Given the description of an element on the screen output the (x, y) to click on. 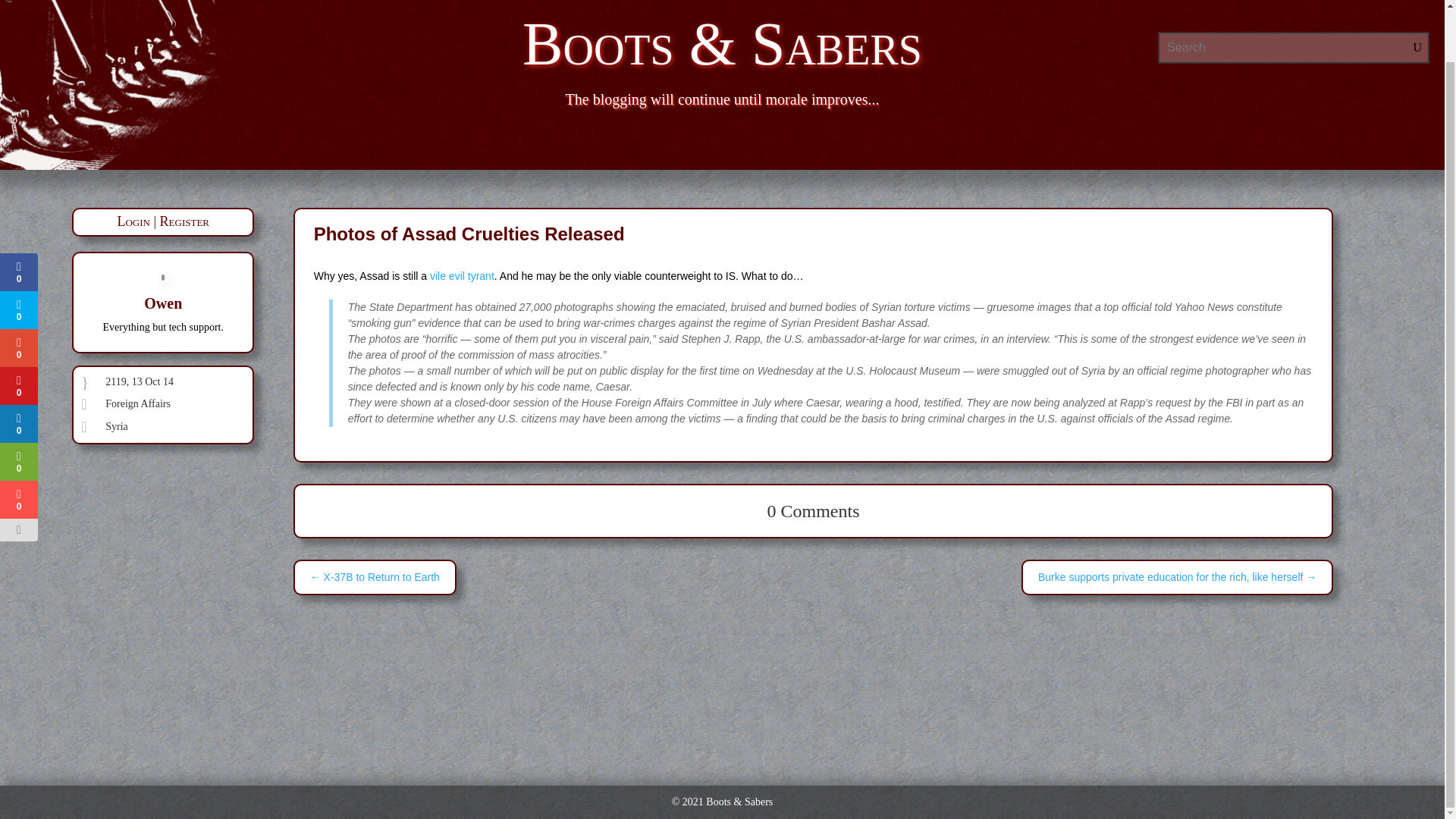
vile evil tyrant (462, 275)
0 (17, 405)
Register (184, 221)
Foreign Affairs (137, 403)
Syria (116, 426)
0 (17, 443)
aggie-boots-96-clear (150, 84)
Login (132, 221)
